Given the description of an element on the screen output the (x, y) to click on. 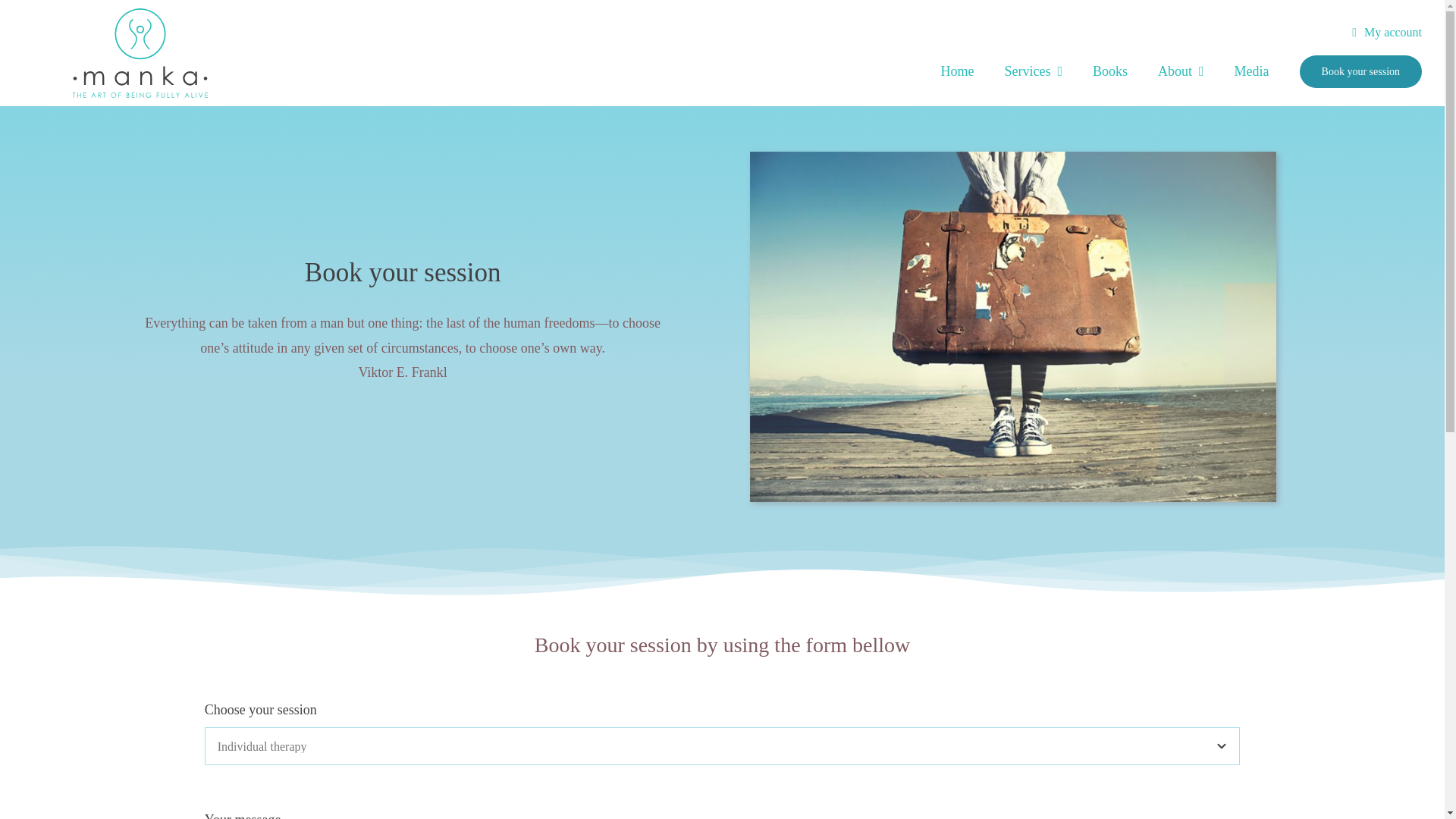
My account (1393, 33)
About (1180, 70)
Book your session (1361, 70)
Services (1033, 70)
